Given the description of an element on the screen output the (x, y) to click on. 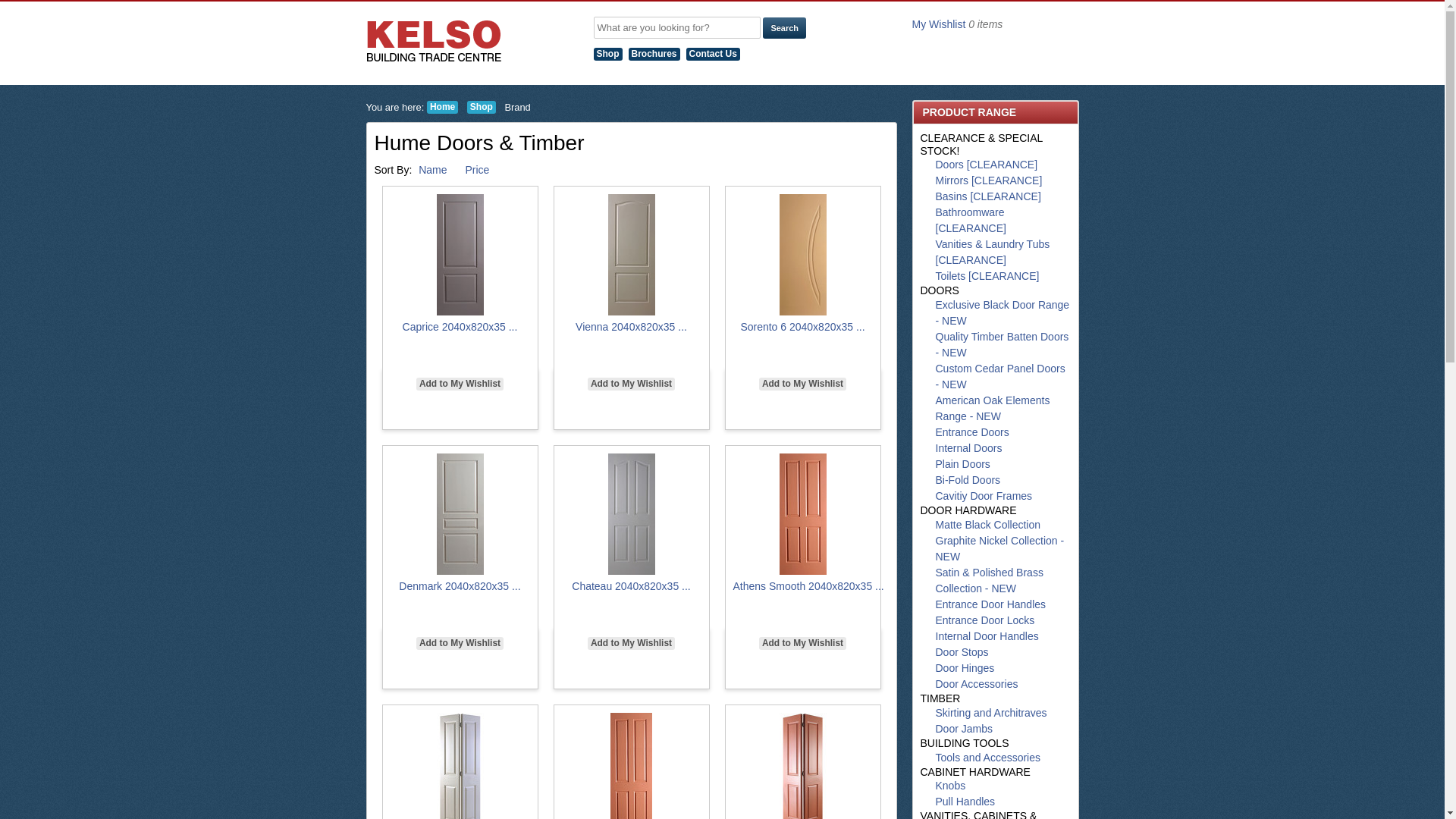
Vienna 2040x820x35 ... Element type: text (631, 326)
Search Element type: text (784, 27)
Custom Cedar Panel Doors - NEW Element type: text (1000, 376)
Bathroomware [CLEARANCE] Element type: text (970, 220)
Toilets [CLEARANCE] Element type: text (987, 275)
Door Stops Element type: text (961, 652)
Brochures Element type: text (656, 53)
Contact Us Element type: text (716, 53)
Add to My Wishlist Element type: text (630, 383)
Graphite Nickel Collection - NEW Element type: text (999, 548)
Exclusive Black Door Range - NEW Element type: text (1002, 312)
Shop Element type: text (481, 106)
Skirting and Architraves Element type: text (991, 712)
Sorento 6 2040x820x35 ... Element type: text (802, 326)
Caprice 2040x820x35 ... Element type: text (459, 326)
Vanities & Laundry Tubs [CLEARANCE] Element type: text (992, 252)
Matte Black Collection Element type: text (988, 524)
Add to My Wishlist Element type: text (459, 383)
Denmark 2040x820x35 ... Element type: text (459, 586)
Pull Handles Element type: text (965, 801)
Add to My Wishlist Element type: text (459, 643)
American Oak Elements Range - NEW Element type: text (992, 408)
Entrance Doors Element type: text (972, 432)
Door Hinges Element type: text (964, 668)
Add to My Wishlist Element type: text (802, 383)
Basins [CLEARANCE] Element type: text (988, 196)
Athens Smooth 2040x820x35 ... Element type: text (807, 586)
Add to My Wishlist Element type: text (802, 643)
Chateau 2040x820x35 ... Element type: text (630, 586)
Kelso Building Trade Centre Element type: hover (433, 40)
Shop Element type: text (610, 53)
Mirrors [CLEARANCE] Element type: text (988, 180)
Tools and Accessories Element type: text (988, 757)
Internal Doors Element type: text (968, 448)
Add to My Wishlist Element type: text (630, 643)
Bi-Fold Doors Element type: text (968, 479)
My Wishlist 0 items Element type: text (956, 24)
Entrance Door Locks Element type: text (985, 620)
Price Element type: text (484, 169)
Satin & Polished Brass Collection - NEW Element type: text (989, 580)
Door Jambs Element type: text (963, 728)
Plain Doors Element type: text (962, 464)
Name Element type: text (439, 169)
Knobs Element type: text (950, 785)
Doors [CLEARANCE] Element type: text (986, 164)
Entrance Door Handles Element type: text (990, 604)
Door Accessories Element type: text (976, 683)
Home Element type: text (442, 106)
Quality Timber Batten Doors - NEW Element type: text (1002, 344)
Internal Door Handles Element type: text (986, 636)
Cavitiy Door Frames Element type: text (983, 495)
